Given the description of an element on the screen output the (x, y) to click on. 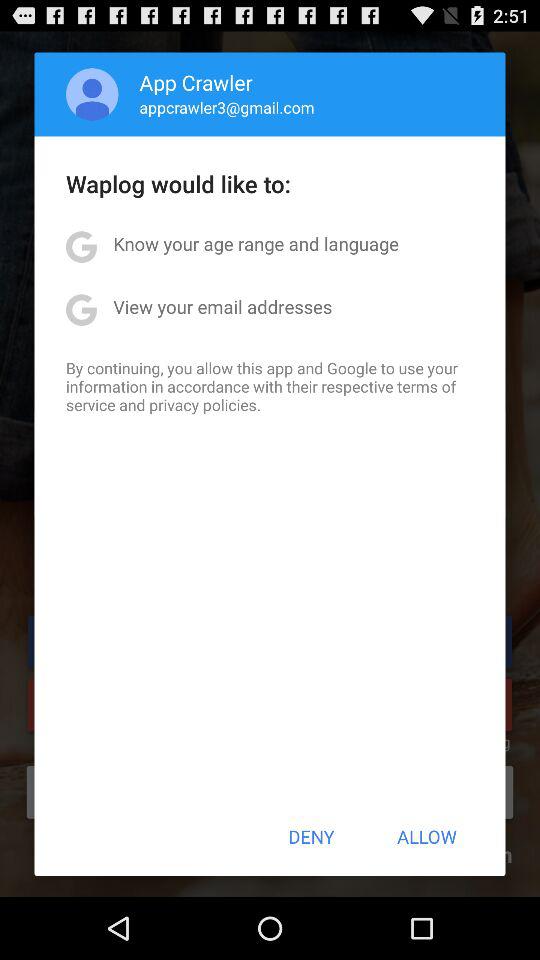
jump until the app crawler item (195, 82)
